Given the description of an element on the screen output the (x, y) to click on. 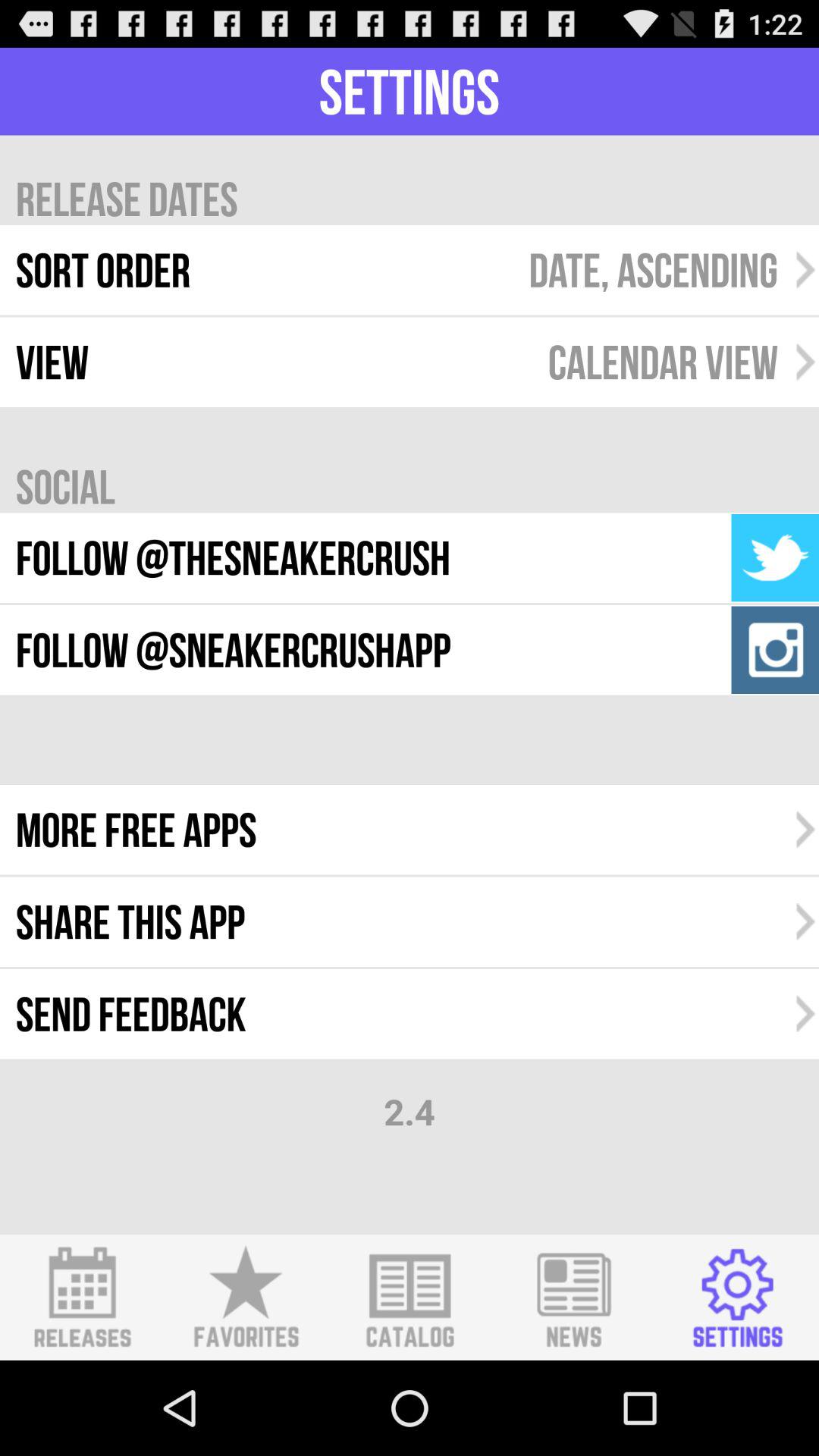
enter catalog (409, 1297)
